Given the description of an element on the screen output the (x, y) to click on. 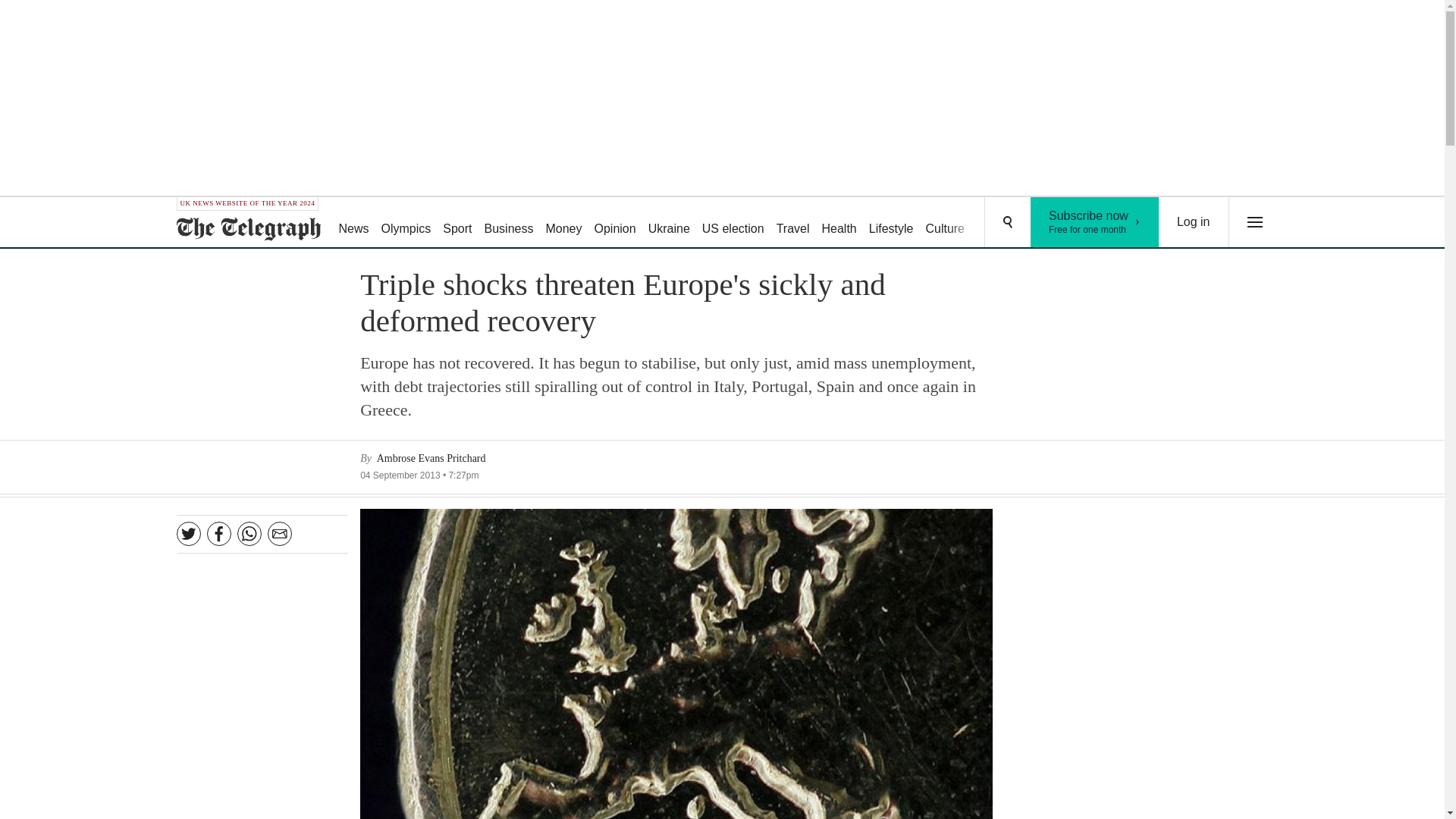
Business (509, 223)
Opinion (615, 223)
Ukraine (1094, 222)
Culture (668, 223)
Olympics (944, 223)
US election (406, 223)
Money (732, 223)
Travel (563, 223)
Puzzles (792, 223)
